Given the description of an element on the screen output the (x, y) to click on. 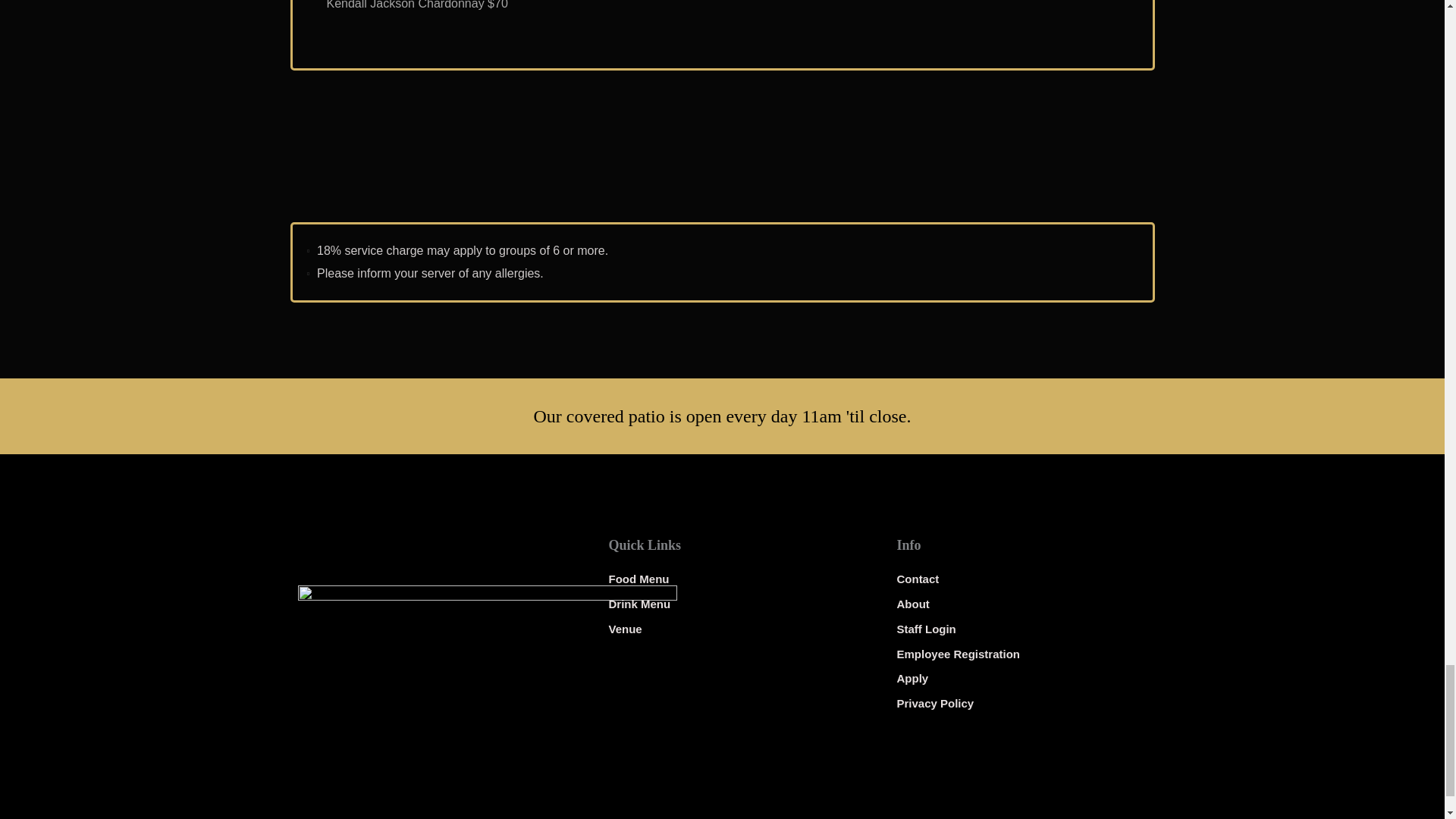
Venue (729, 629)
Food Menu (729, 578)
Apply (1017, 678)
Staff Login (1017, 629)
About (1017, 604)
Contact (1017, 578)
Drink Menu (729, 604)
Employee Registration (1017, 654)
Privacy Policy (1017, 703)
